Given the description of an element on the screen output the (x, y) to click on. 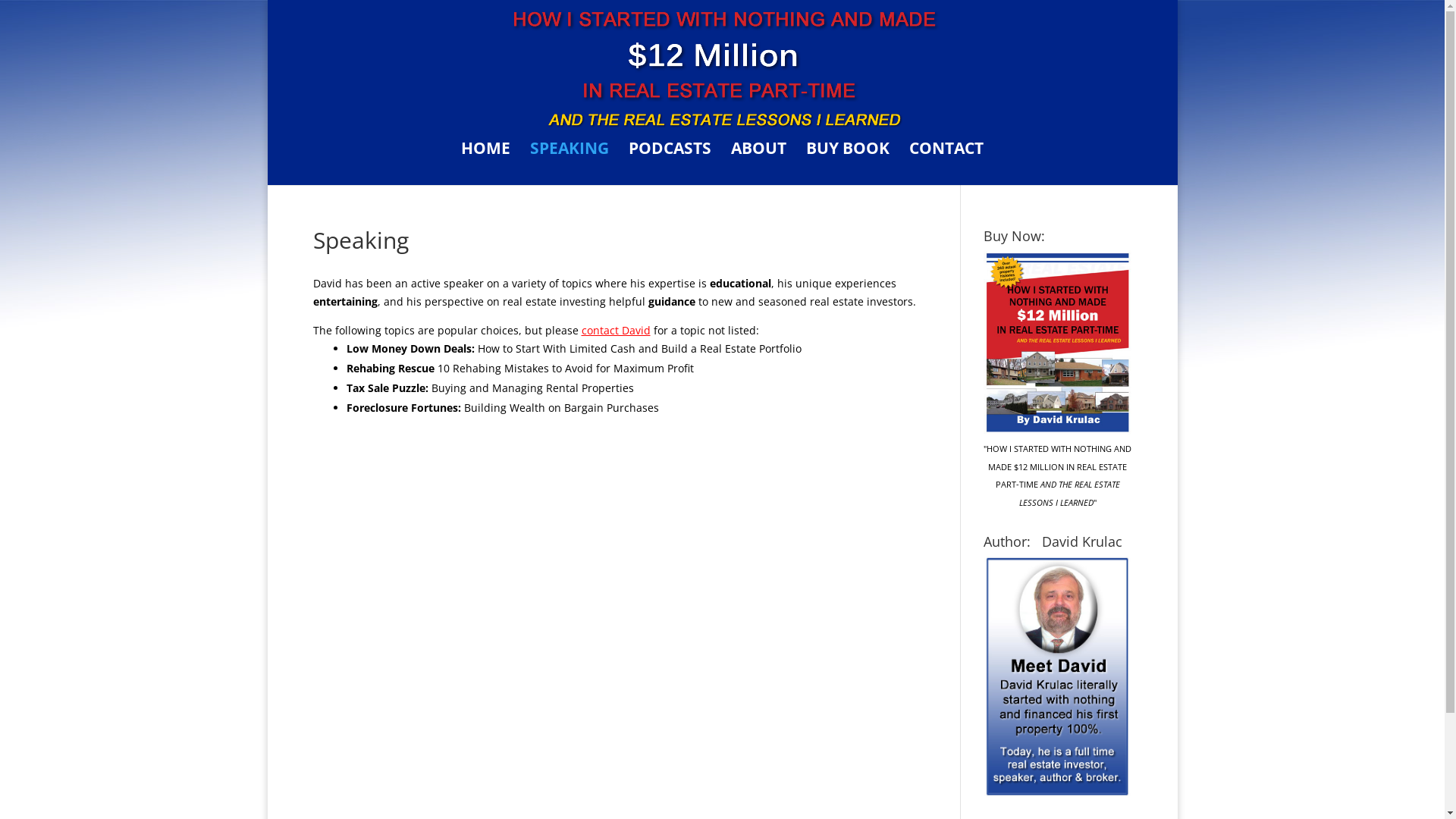
About David Krulac Element type: hover (1057, 794)
PODCASTS Element type: text (669, 163)
contact David Element type: text (614, 330)
SPEAKING Element type: text (569, 163)
Go to Buy Book Page Element type: hover (1057, 430)
BUY BOOK Element type: text (847, 163)
CONTACT Element type: text (946, 163)
ABOUT Element type: text (758, 163)
HOME Element type: text (485, 163)
